Given the description of an element on the screen output the (x, y) to click on. 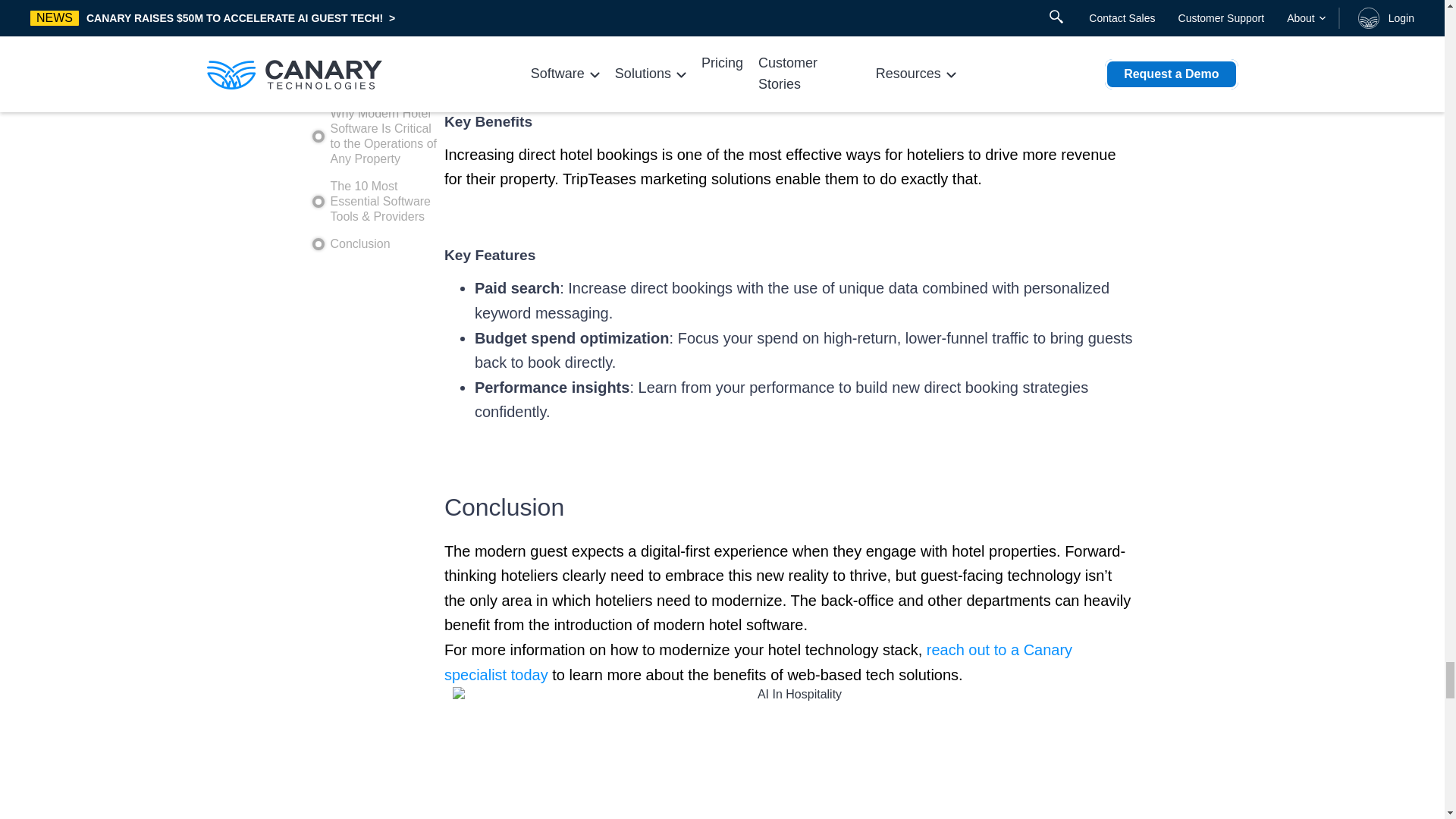
AI In Hospitality (792, 753)
